Given the description of an element on the screen output the (x, y) to click on. 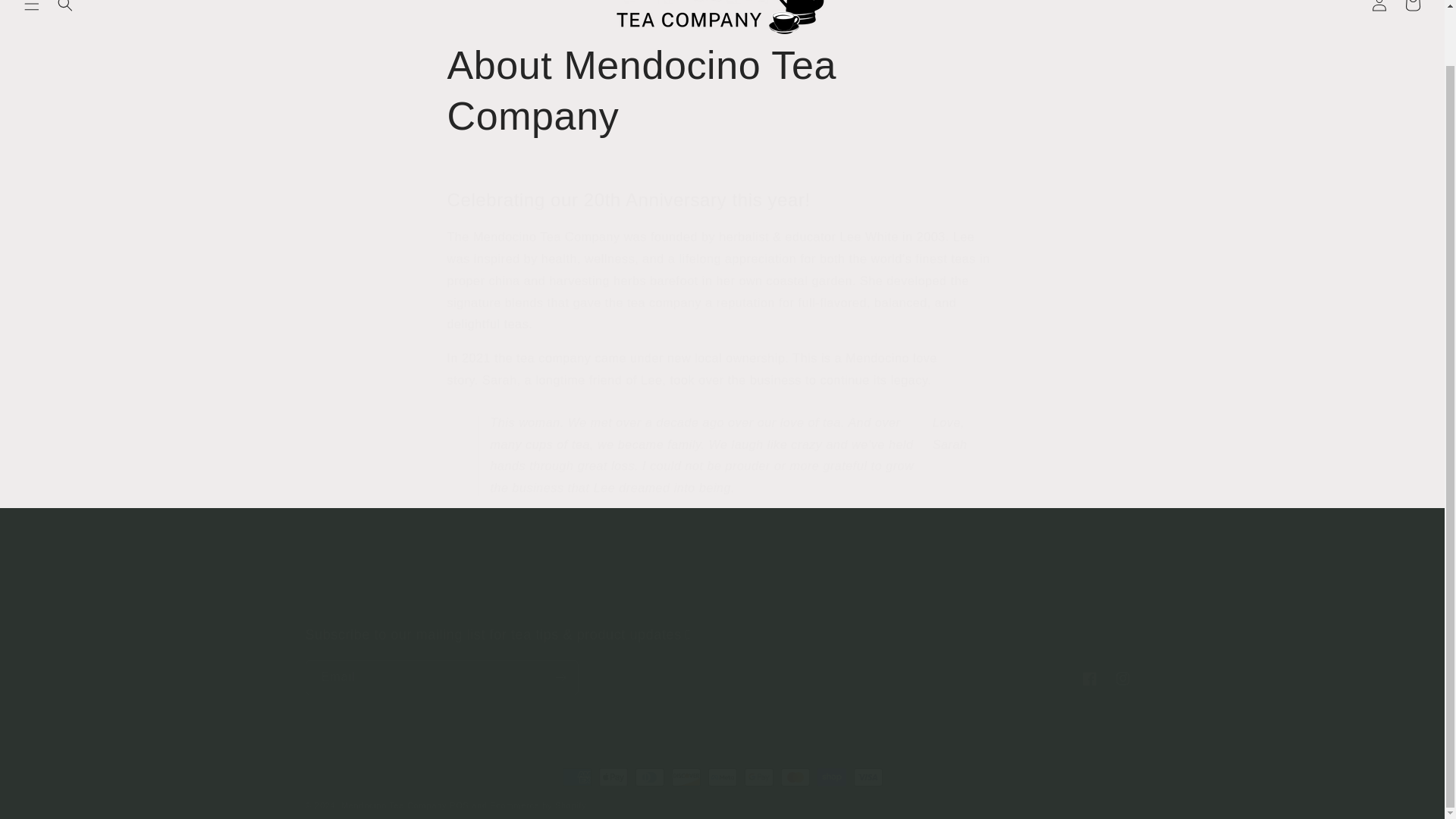
Facebook (1088, 678)
Log in (1379, 10)
Instagram (1121, 678)
Ecommerce by Shopify (537, 804)
Customer Reviews (735, 605)
POS (458, 804)
Mendocino Tea Company (393, 804)
Search (888, 605)
